Given the description of an element on the screen output the (x, y) to click on. 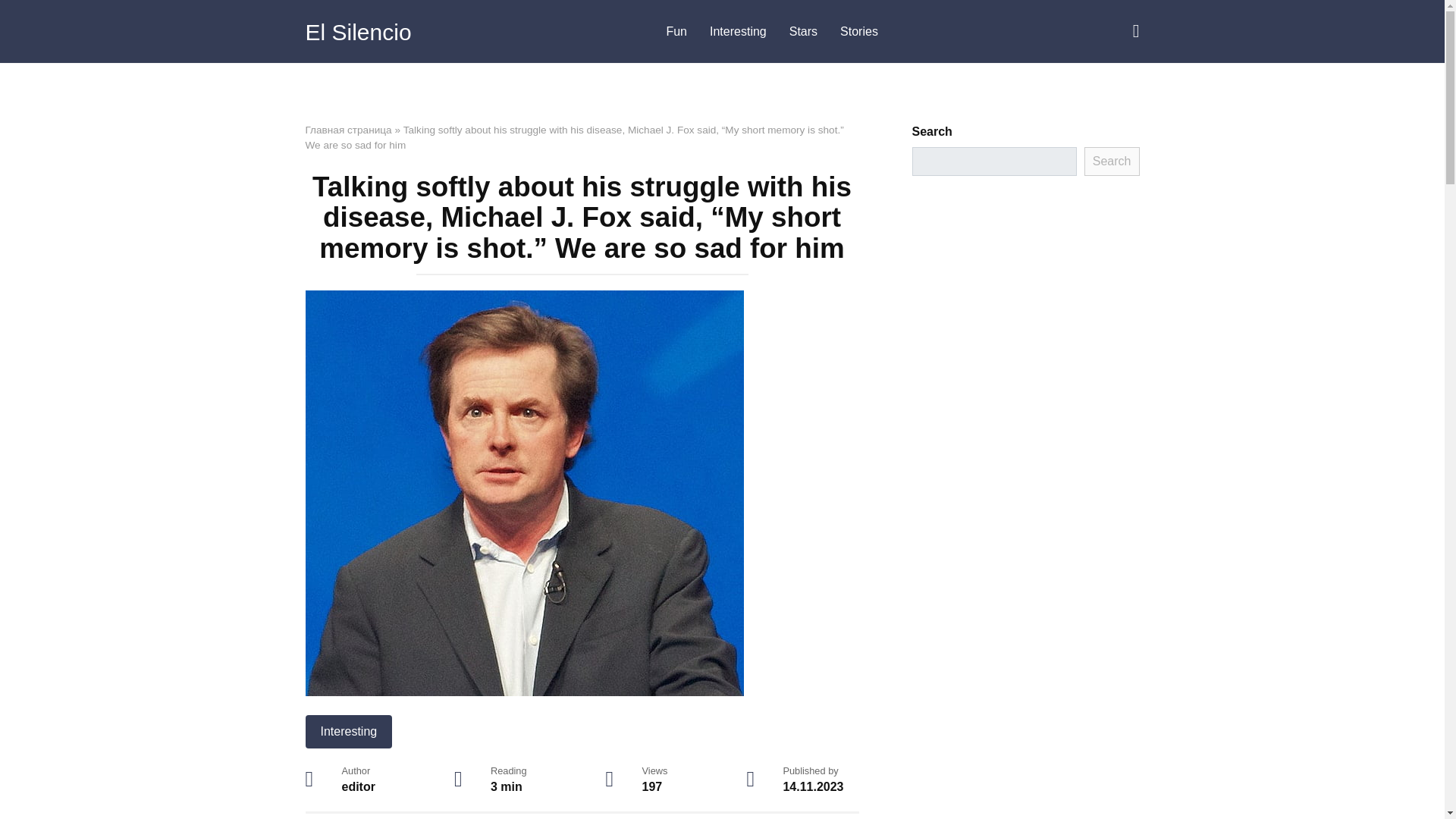
Stories (858, 31)
Stars (802, 31)
Fun (675, 31)
El Silencio (357, 32)
Search (1112, 161)
Interesting (737, 31)
Interesting (347, 731)
